Given the description of an element on the screen output the (x, y) to click on. 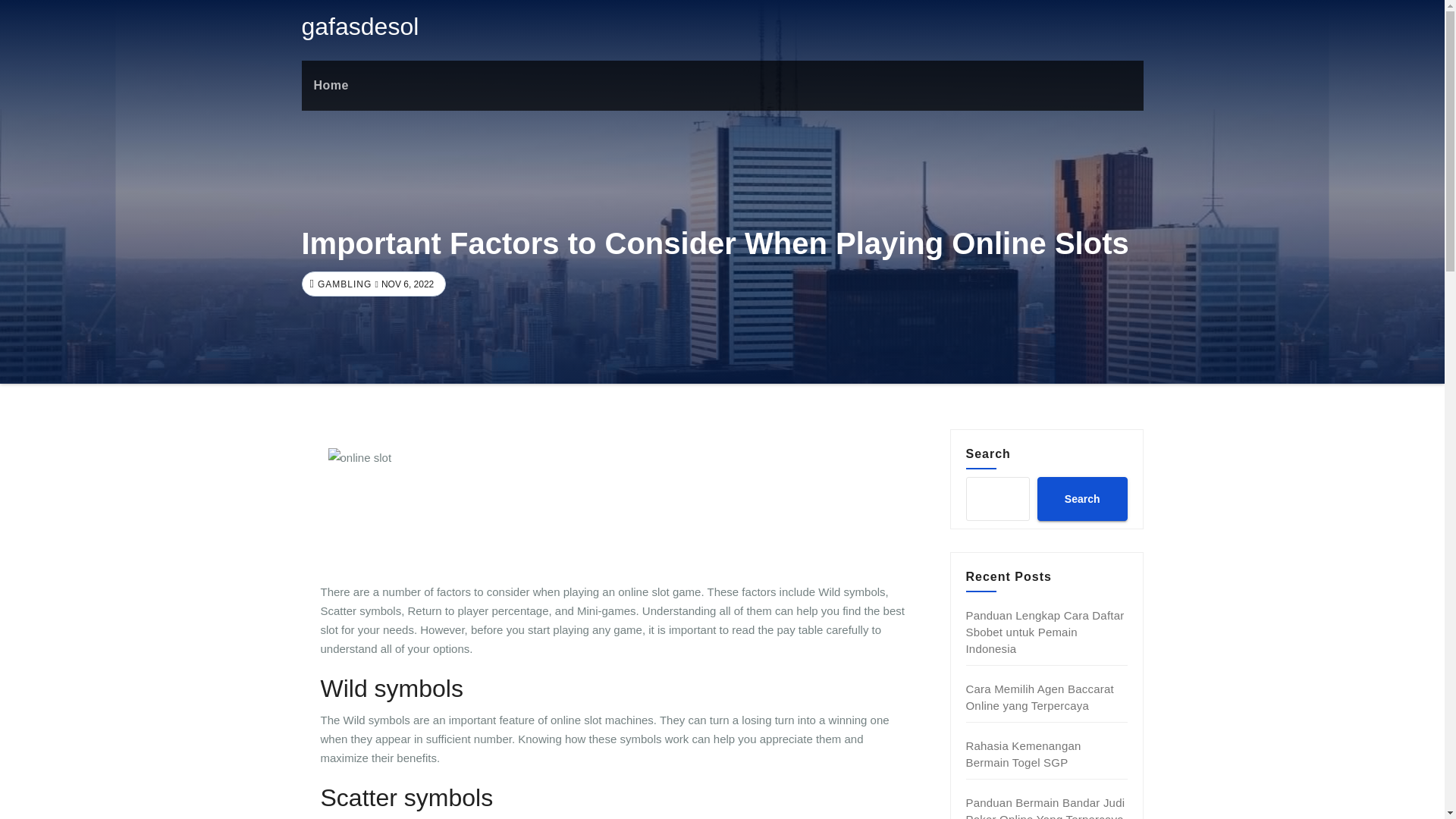
Rahasia Kemenangan Bermain Togel SGP (1023, 754)
Home (331, 85)
Cara Memilih Agen Baccarat Online yang Terpercaya (1039, 696)
Panduan Lengkap Cara Daftar Sbobet untuk Pemain Indonesia (1045, 632)
Panduan Bermain Bandar Judi Poker Online Yang Terpercaya (1045, 807)
Search (1081, 498)
GAMBLING (342, 284)
gafasdesol (360, 26)
Home (331, 85)
